Given the description of an element on the screen output the (x, y) to click on. 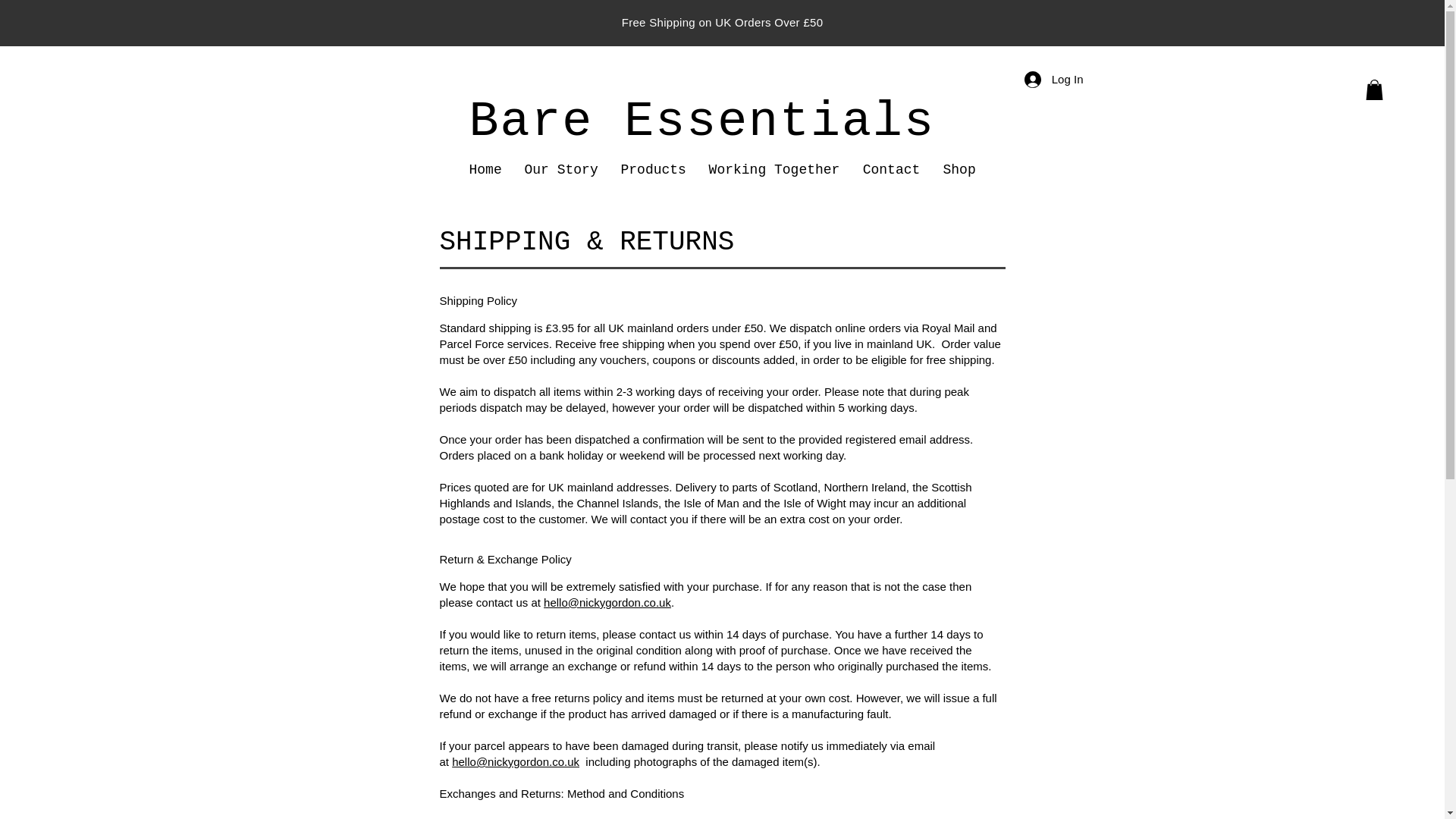
Our Story (560, 169)
Shop (959, 169)
Home (485, 169)
Contact (890, 169)
Products (653, 169)
Log In (1053, 79)
Working Together (774, 169)
